Given the description of an element on the screen output the (x, y) to click on. 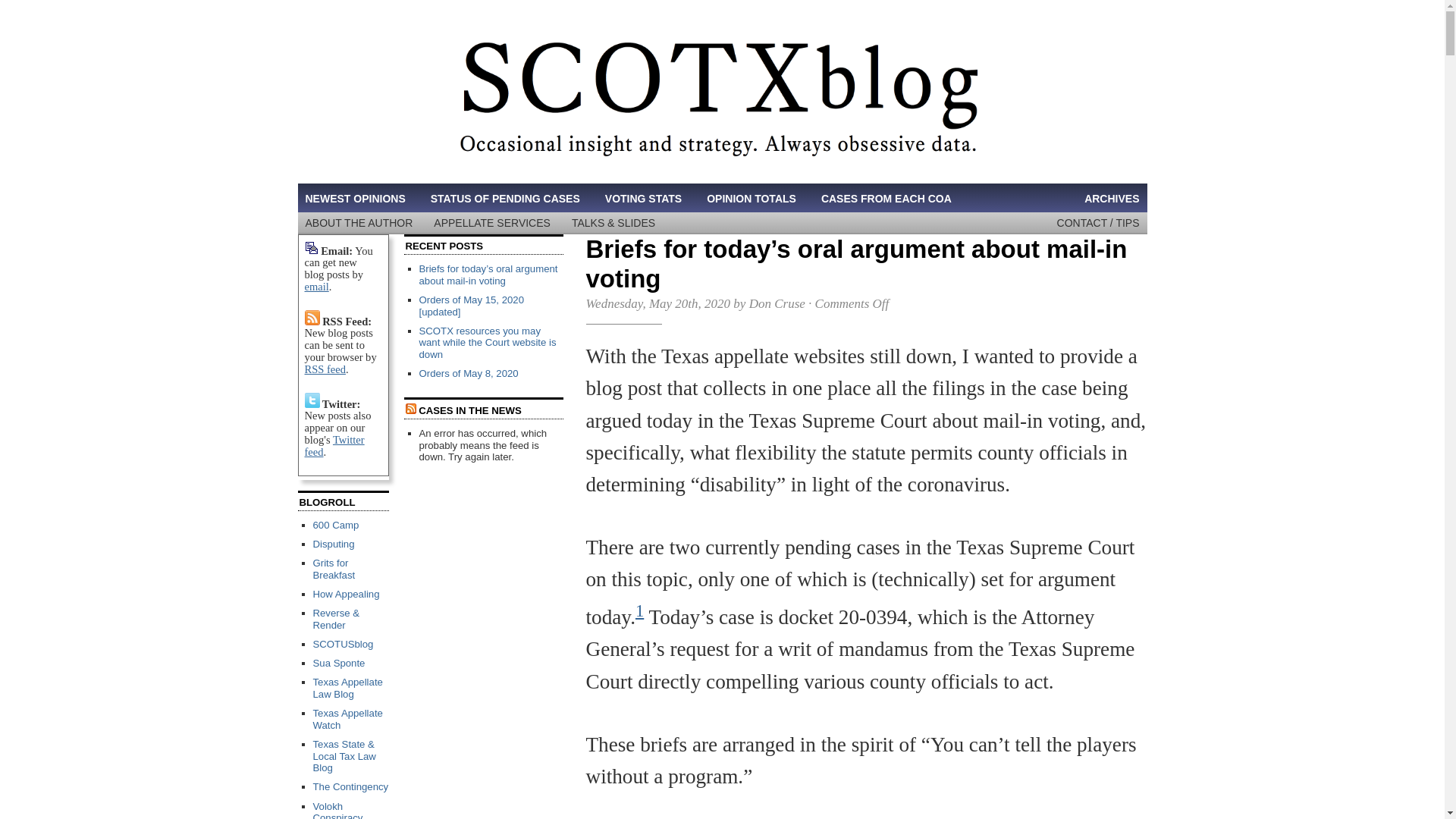
Grits for Breakfast (334, 568)
Texas Appellate Law Blog (347, 688)
TIPS (1126, 223)
STATUS OF PENDING CASES (504, 198)
A blog about civil cases in the Fifth Circuit (335, 524)
Disputing (333, 543)
email (316, 286)
600 Camp (335, 524)
ARCHIVES (1111, 198)
The Contingency (350, 786)
RSS feed (325, 369)
NEWEST OPINIONS (354, 198)
Volokh Conspiracy (337, 809)
